Given the description of an element on the screen output the (x, y) to click on. 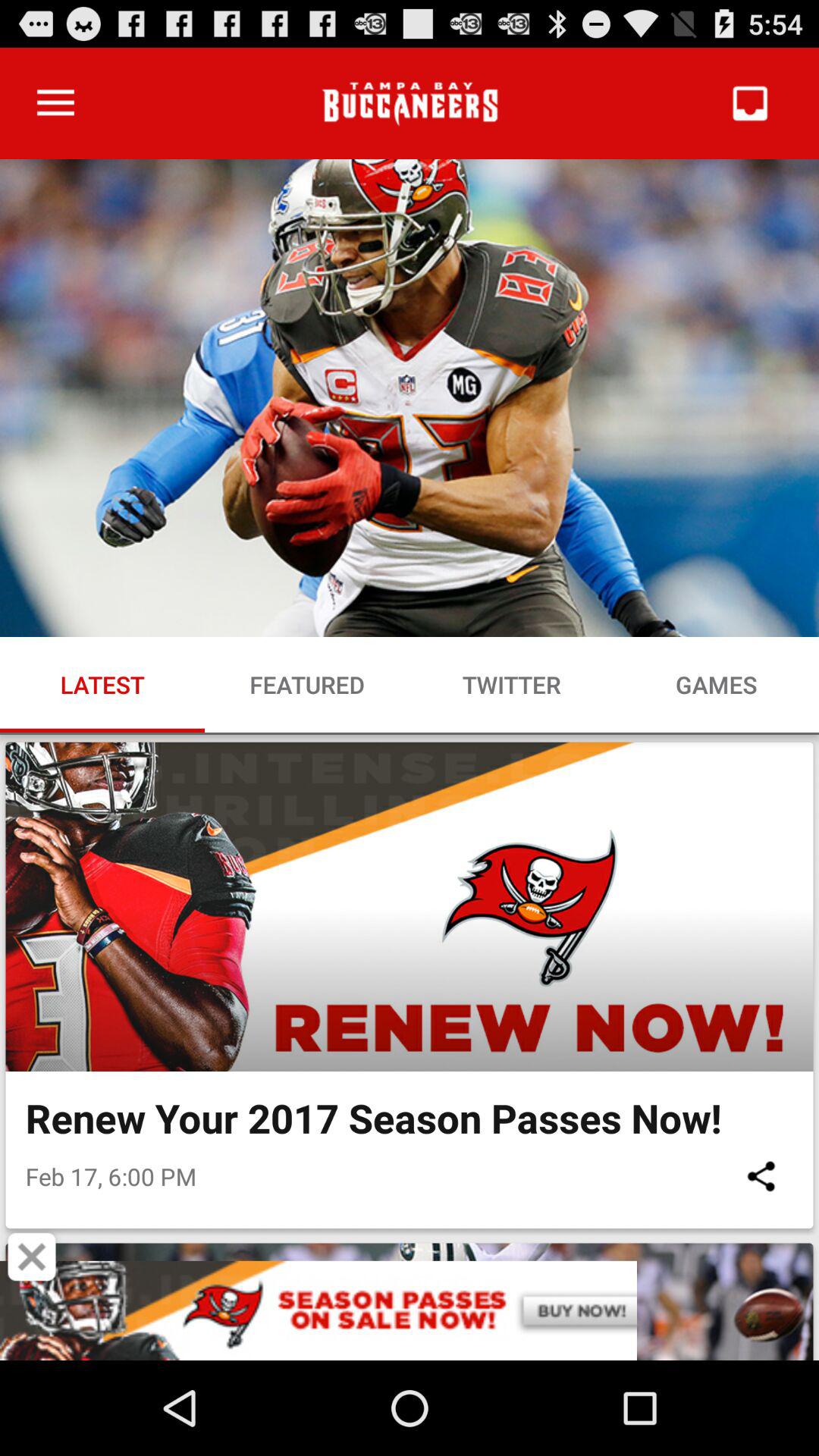
turn on icon at the bottom right corner (761, 1176)
